Given the description of an element on the screen output the (x, y) to click on. 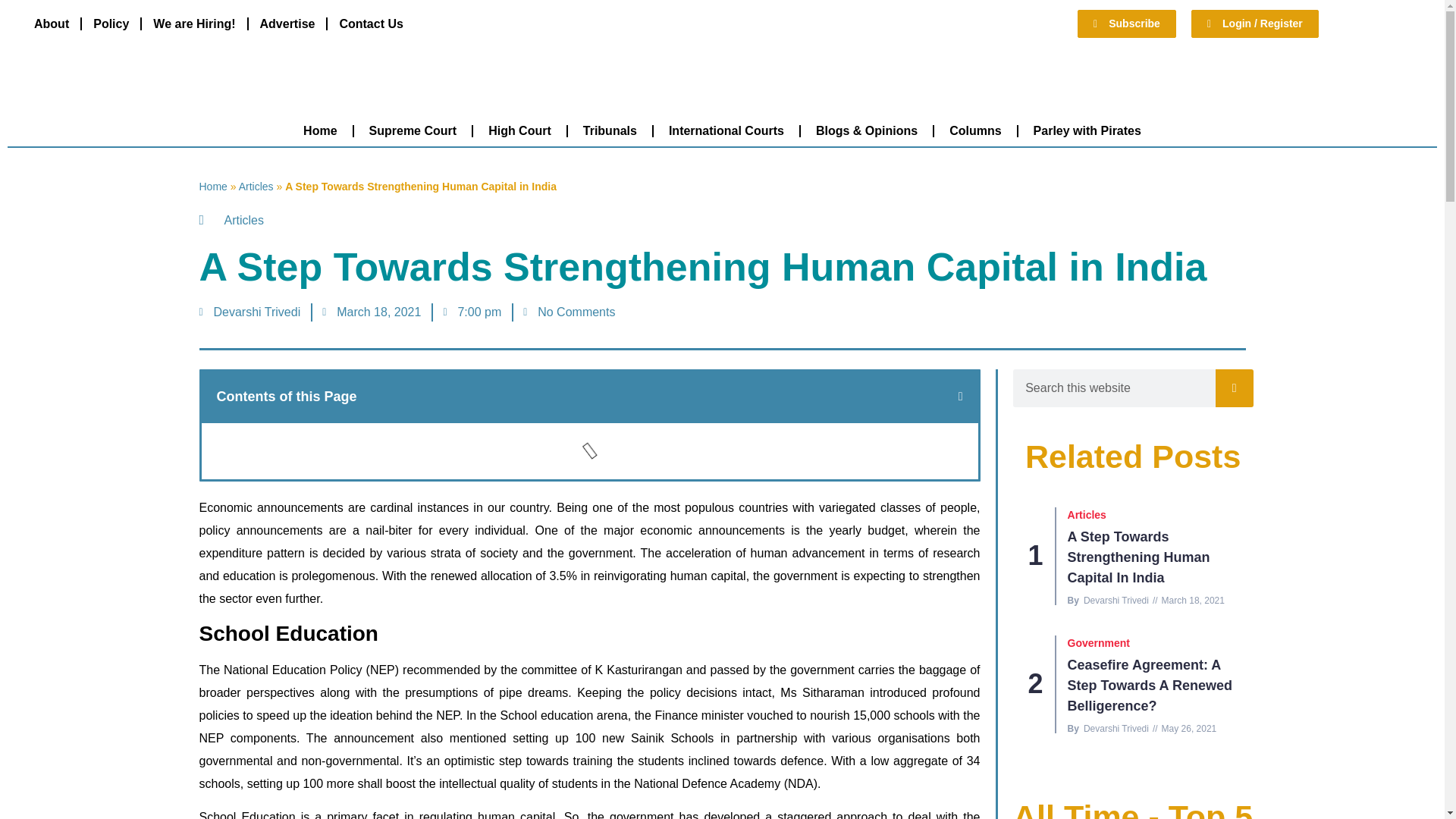
Tribunals (609, 130)
Policy (110, 22)
Supreme Court (412, 130)
High Court (519, 130)
Contact Us (370, 22)
A Step Towards Strengthening Human Capital in India (1138, 557)
Subscribe (1126, 23)
Parley with Pirates (1086, 130)
About (51, 22)
Columns (975, 130)
Articles (255, 186)
International Courts (726, 130)
Home (320, 130)
Advertise (287, 22)
We are Hiring! (193, 22)
